Given the description of an element on the screen output the (x, y) to click on. 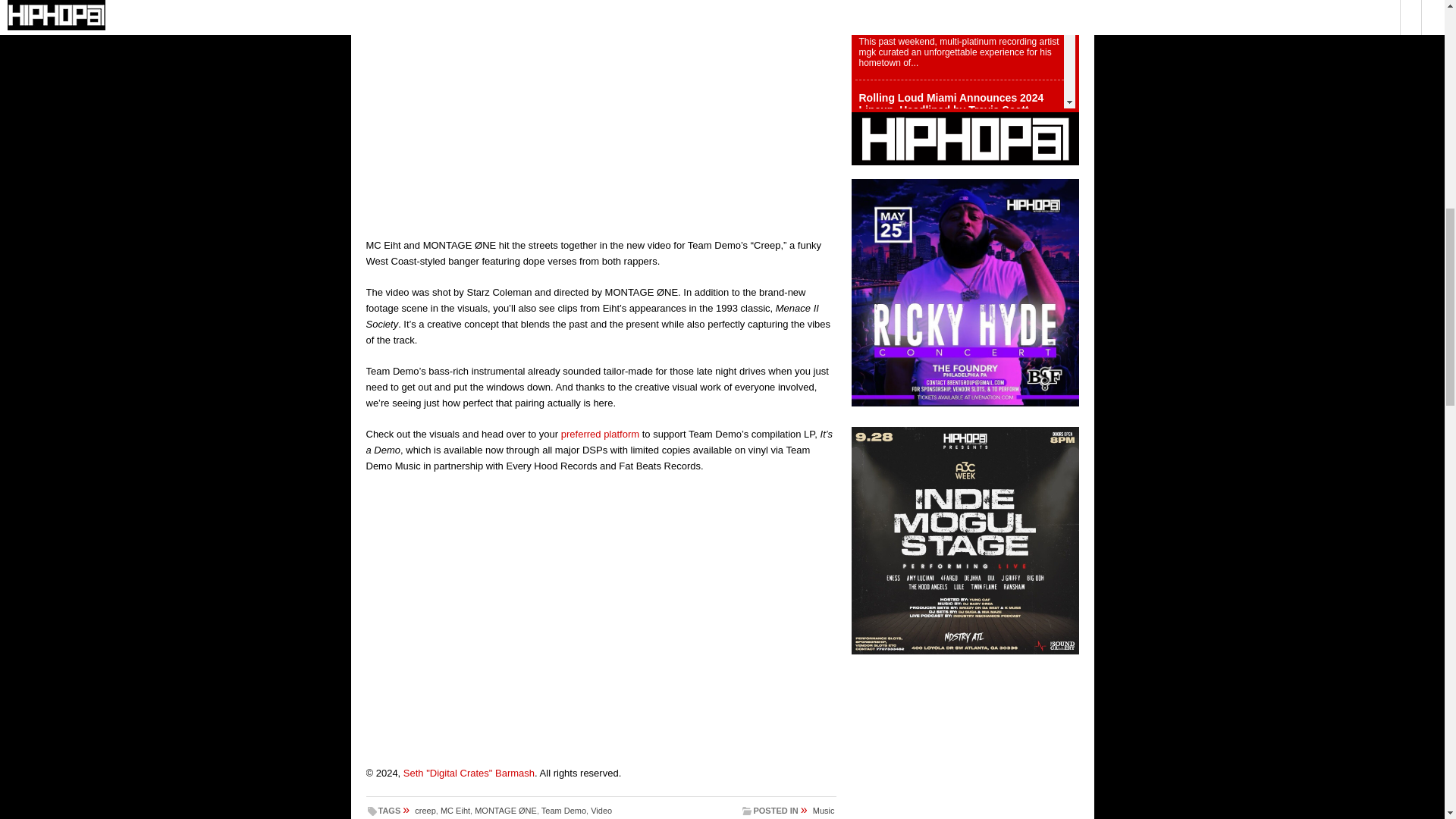
Posts by Seth "Digital Crates" Barmash (468, 772)
creep (424, 809)
Music (823, 809)
Seth "Digital Crates" Barmash (468, 772)
MC Eiht (455, 809)
preferred platform (599, 433)
